Given the description of an element on the screen output the (x, y) to click on. 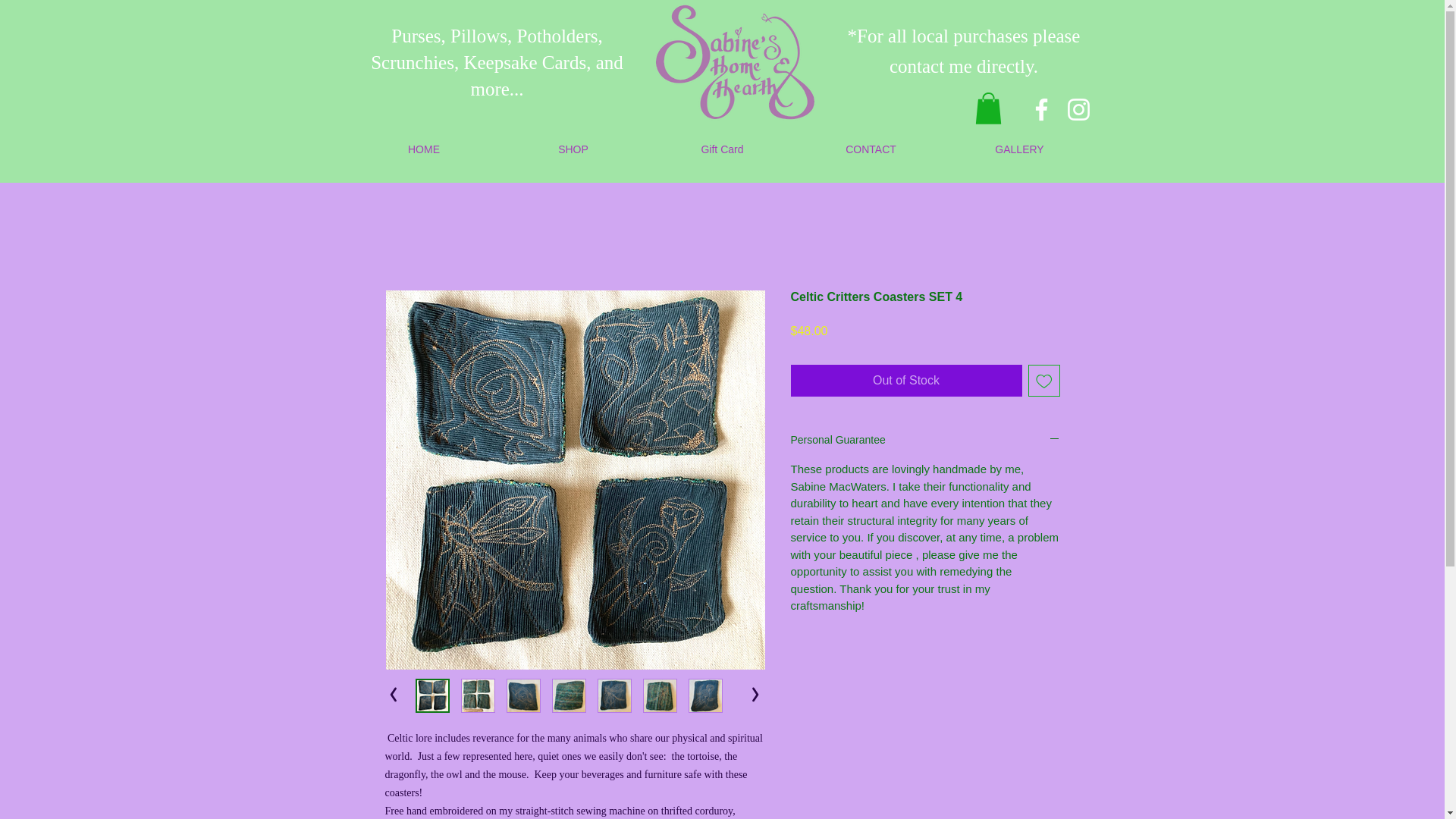
sabines-logo-final-design-a967aa-lavender-white-01.png (735, 62)
Personal Guarantee (924, 440)
Gift Card (721, 149)
GALLERY (1018, 149)
Out of Stock (906, 380)
SHOP (573, 149)
CONTACT (870, 149)
HOME (423, 149)
